Given the description of an element on the screen output the (x, y) to click on. 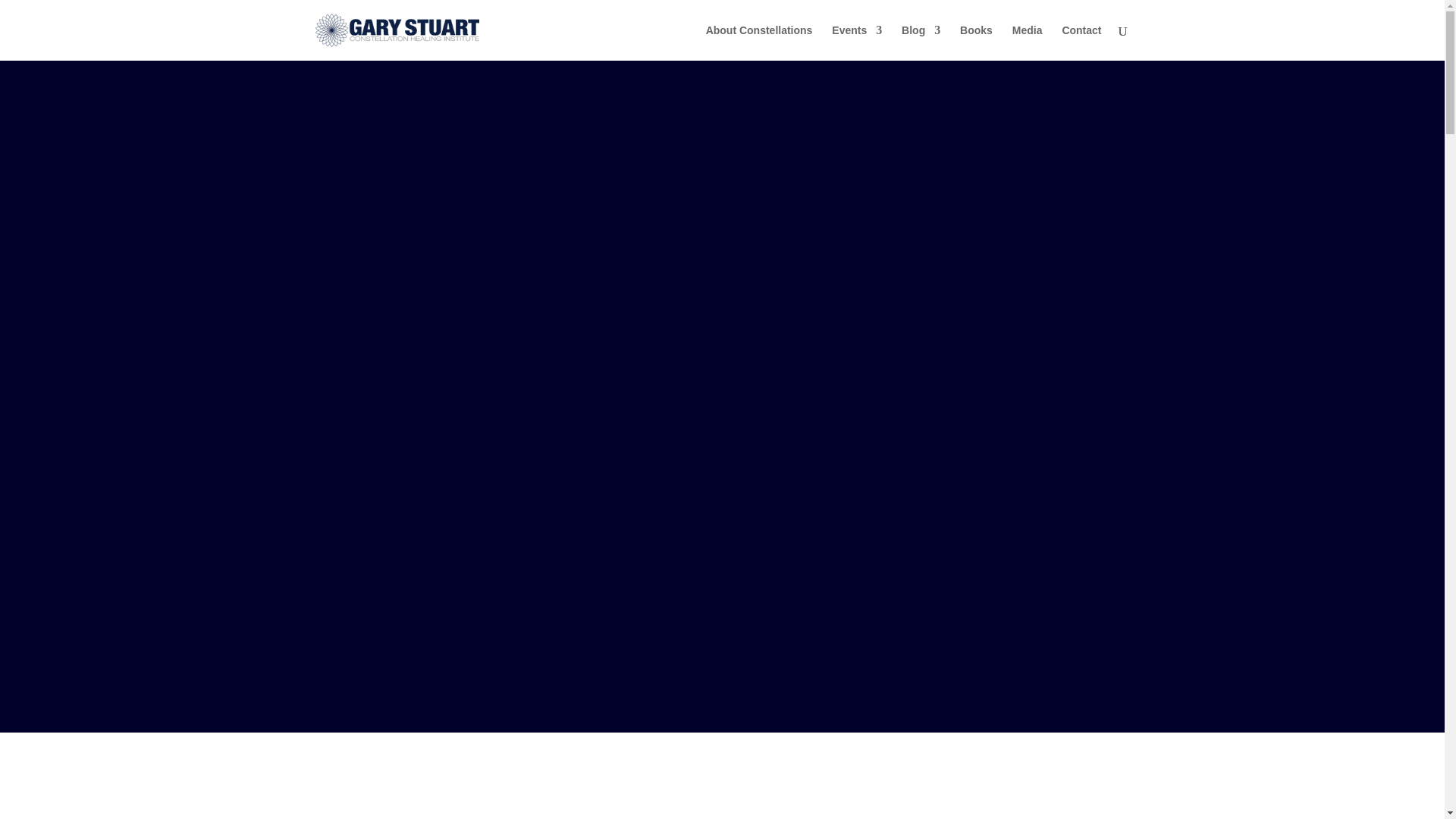
Contact (1080, 42)
Events (856, 42)
About Constellations (759, 42)
Blog (920, 42)
Books (975, 42)
